Given the description of an element on the screen output the (x, y) to click on. 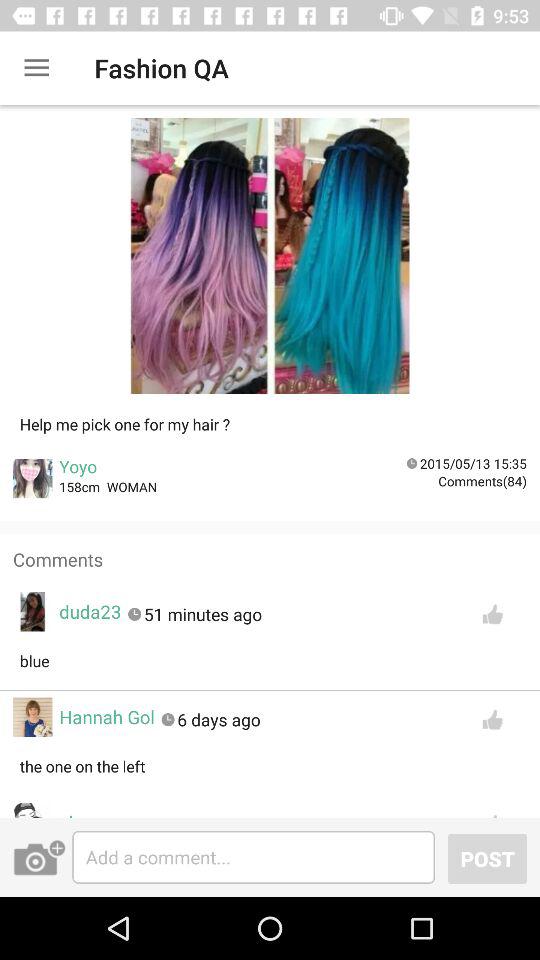
like button (492, 719)
